Given the description of an element on the screen output the (x, y) to click on. 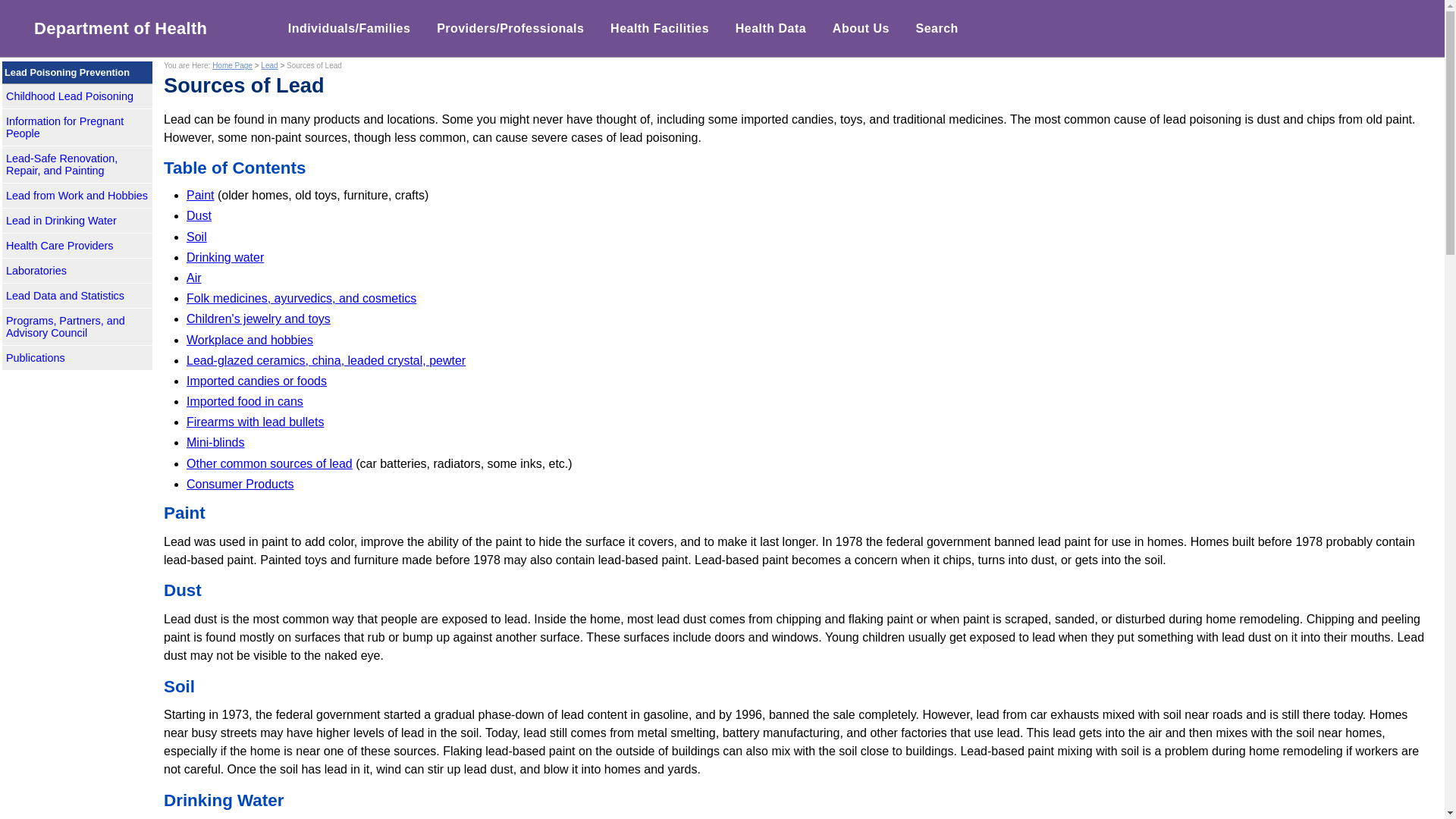
Health Facilities (659, 28)
Health Data (769, 28)
Department of Health (114, 28)
